Given the description of an element on the screen output the (x, y) to click on. 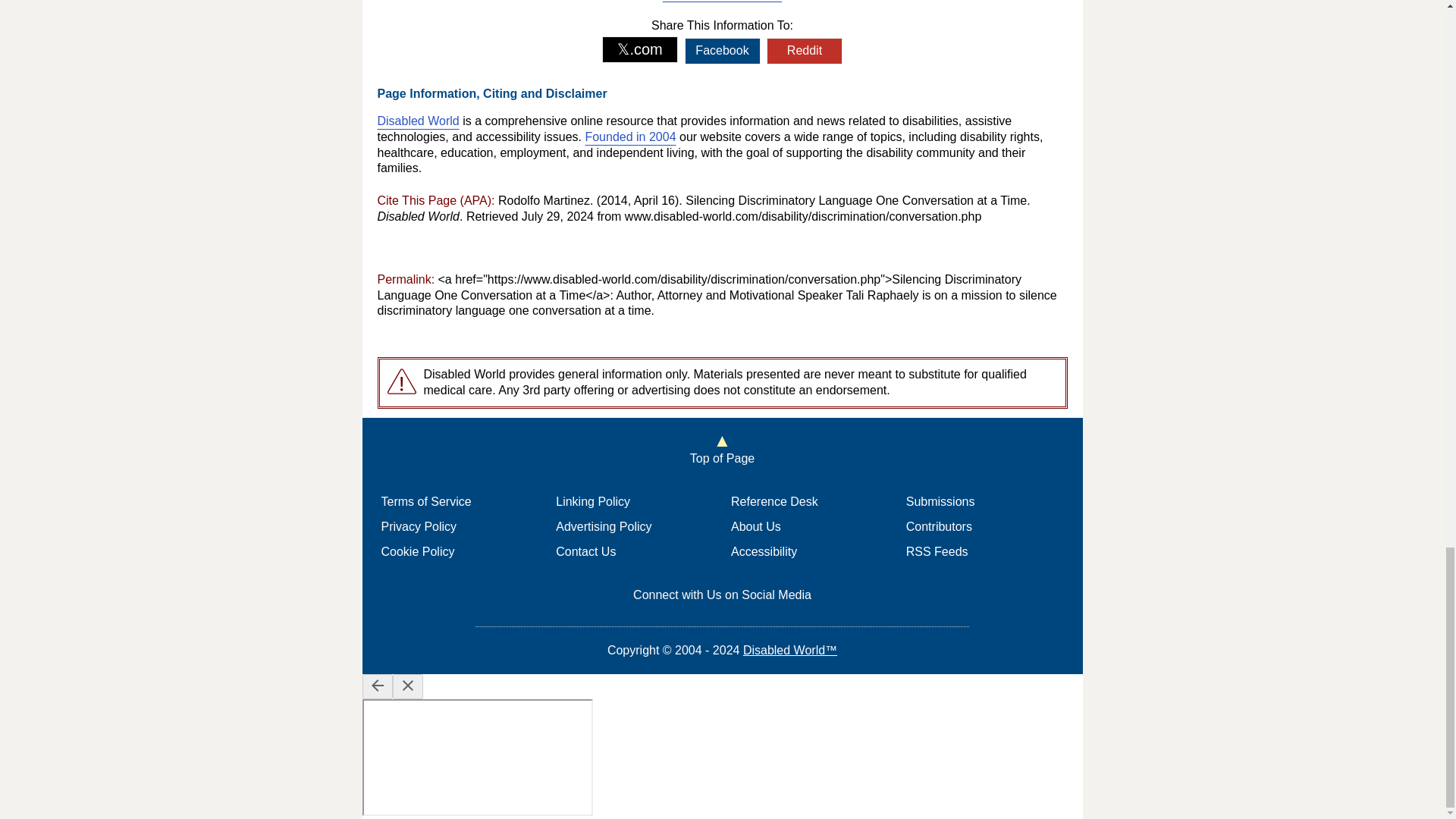
Share on X (640, 49)
Disabled World (418, 120)
Cookie Policy (417, 551)
Linking Policy (593, 501)
Contact Us (585, 551)
Privacy Policy (418, 526)
Advertising Policy (603, 526)
Founded in 2004 (630, 136)
Terms of Service (425, 501)
